Given the description of an element on the screen output the (x, y) to click on. 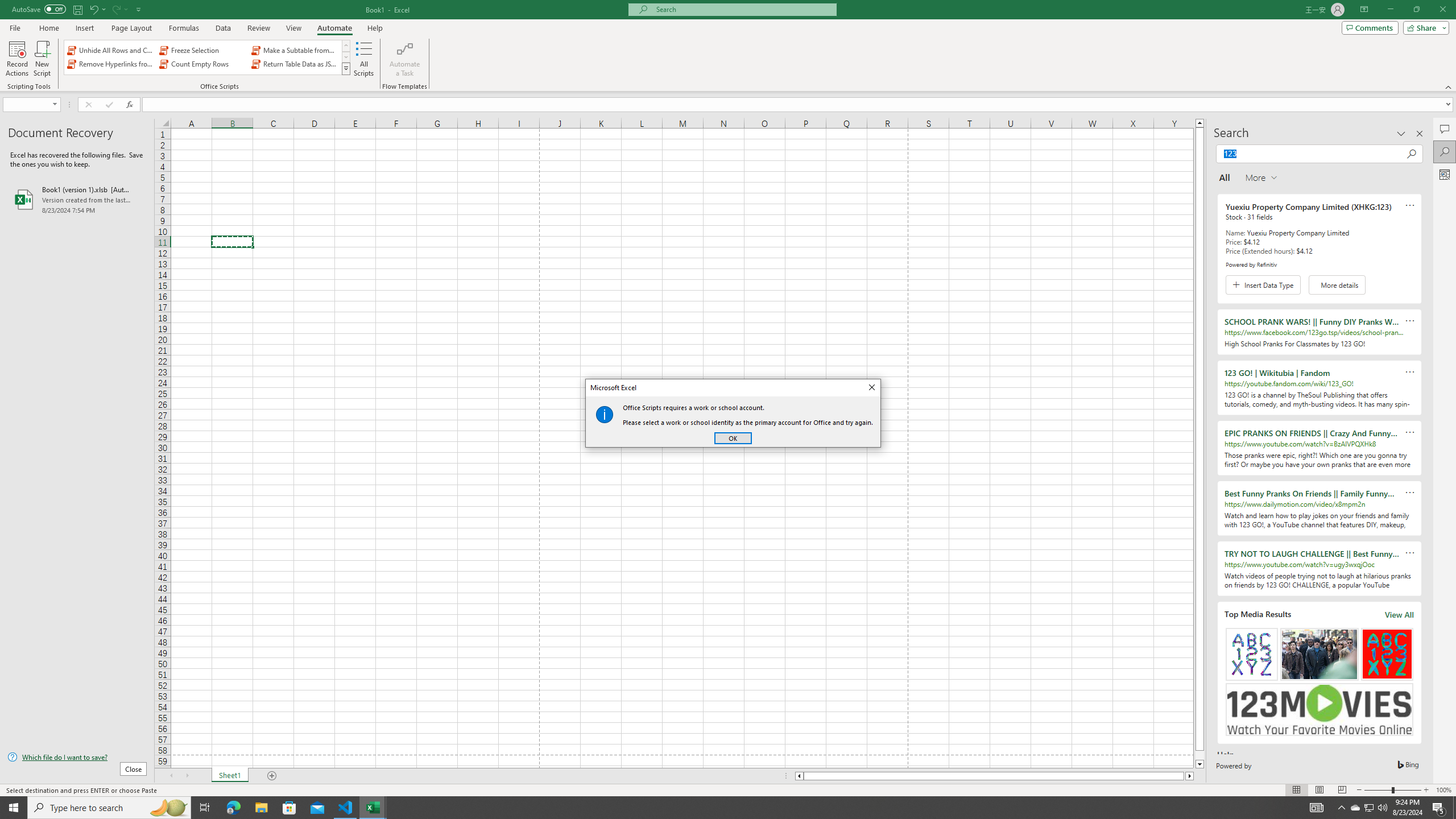
Microsoft Store (289, 807)
Office Scripts (346, 68)
Automate a Task (404, 58)
Freeze Selection (202, 50)
Record Actions (17, 58)
